Given the description of an element on the screen output the (x, y) to click on. 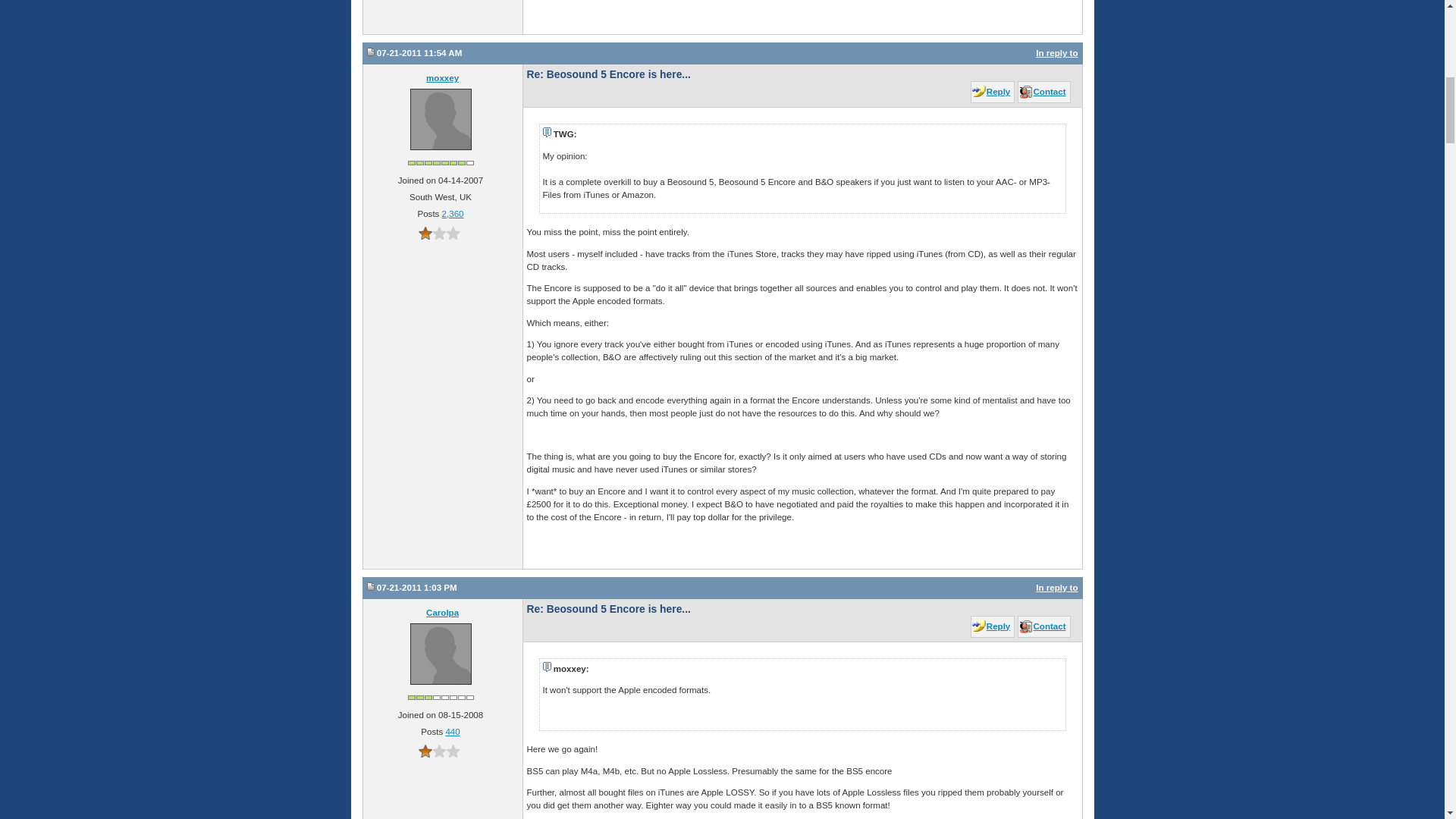
Top 150 Contributor (440, 696)
Top 25 Contributor (440, 162)
